Given the description of an element on the screen output the (x, y) to click on. 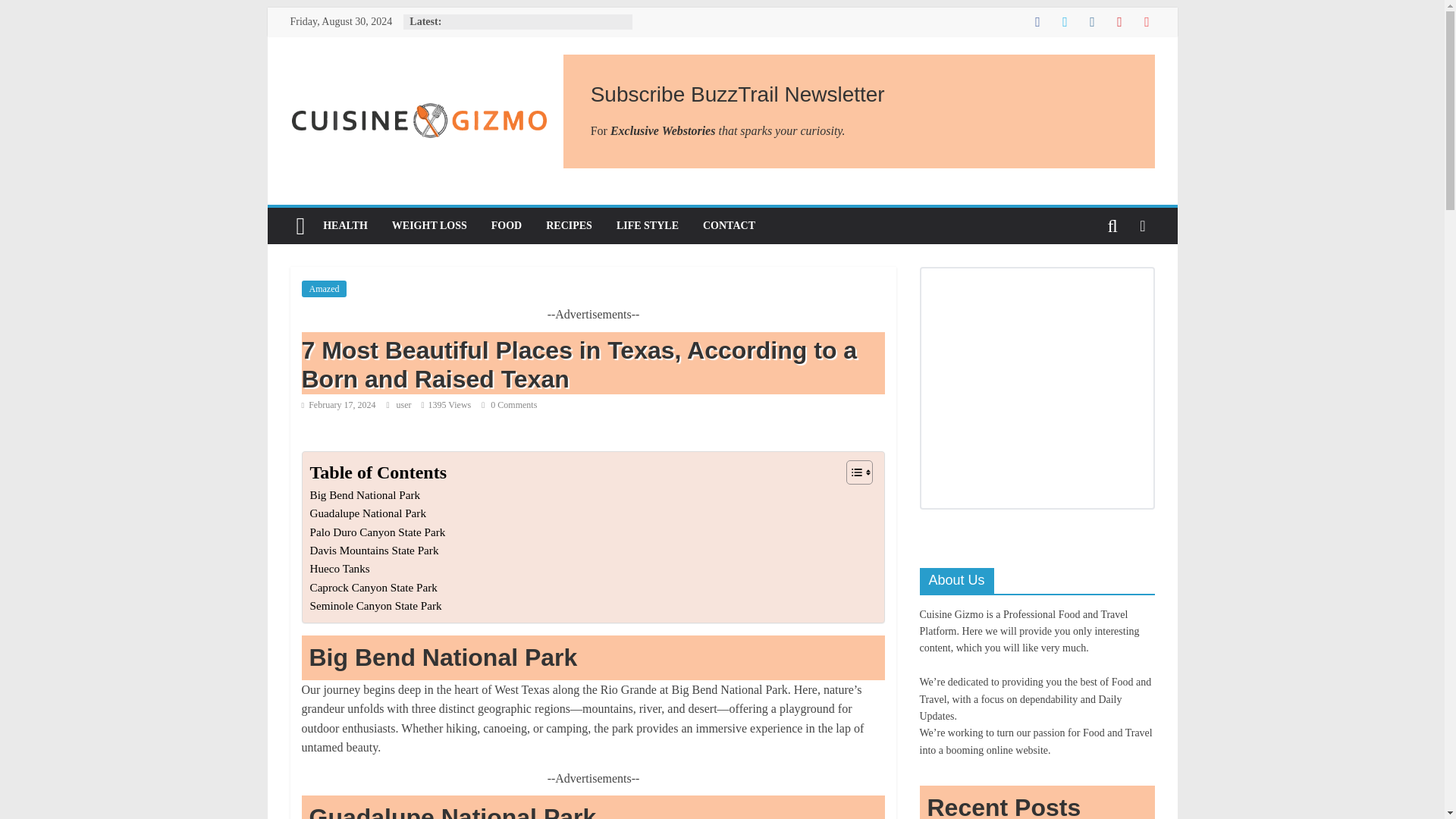
Hueco Tanks (338, 568)
RECIPES (569, 226)
Davis Mountains State Park (373, 550)
12:19 am (338, 404)
February 17, 2024 (338, 404)
HEALTH (345, 226)
Hueco Tanks (338, 568)
Seminole Canyon State Park (374, 606)
user (404, 404)
Palo Duro Canyon State Park (376, 532)
